Given the description of an element on the screen output the (x, y) to click on. 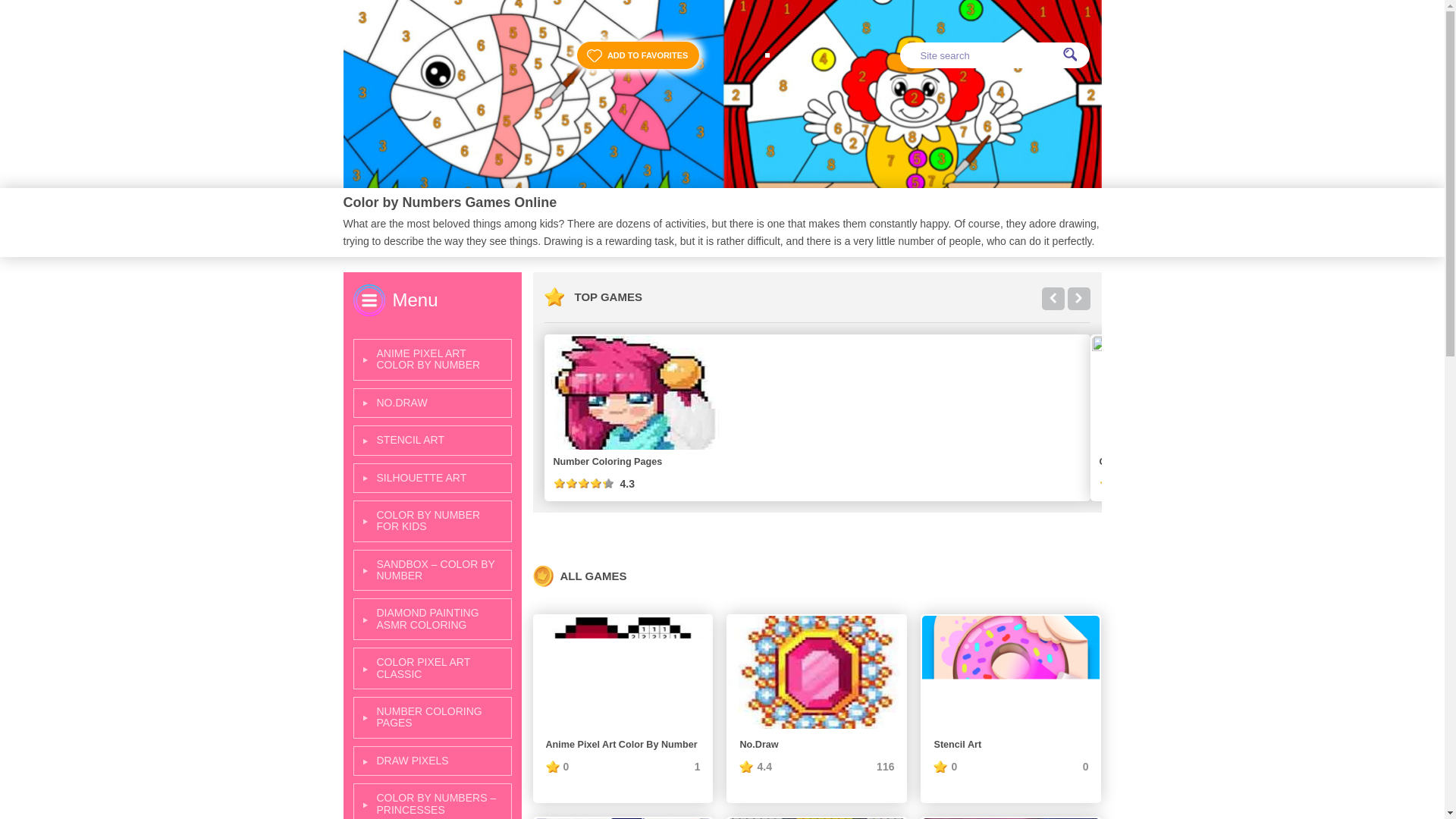
Stencil Art (1010, 671)
Anime Pixel Art Color By Number (622, 671)
Stencil Art (1010, 745)
NO.DRAW (432, 402)
DRAW PIXELS (432, 760)
Anime Pixel Art Color By Number (623, 745)
NUMBER COLORING PAGES (432, 717)
COLOR BY NUMBER FOR KIDS (432, 521)
DIAMOND PAINTING ASMR COLORING (432, 618)
